Given the description of an element on the screen output the (x, y) to click on. 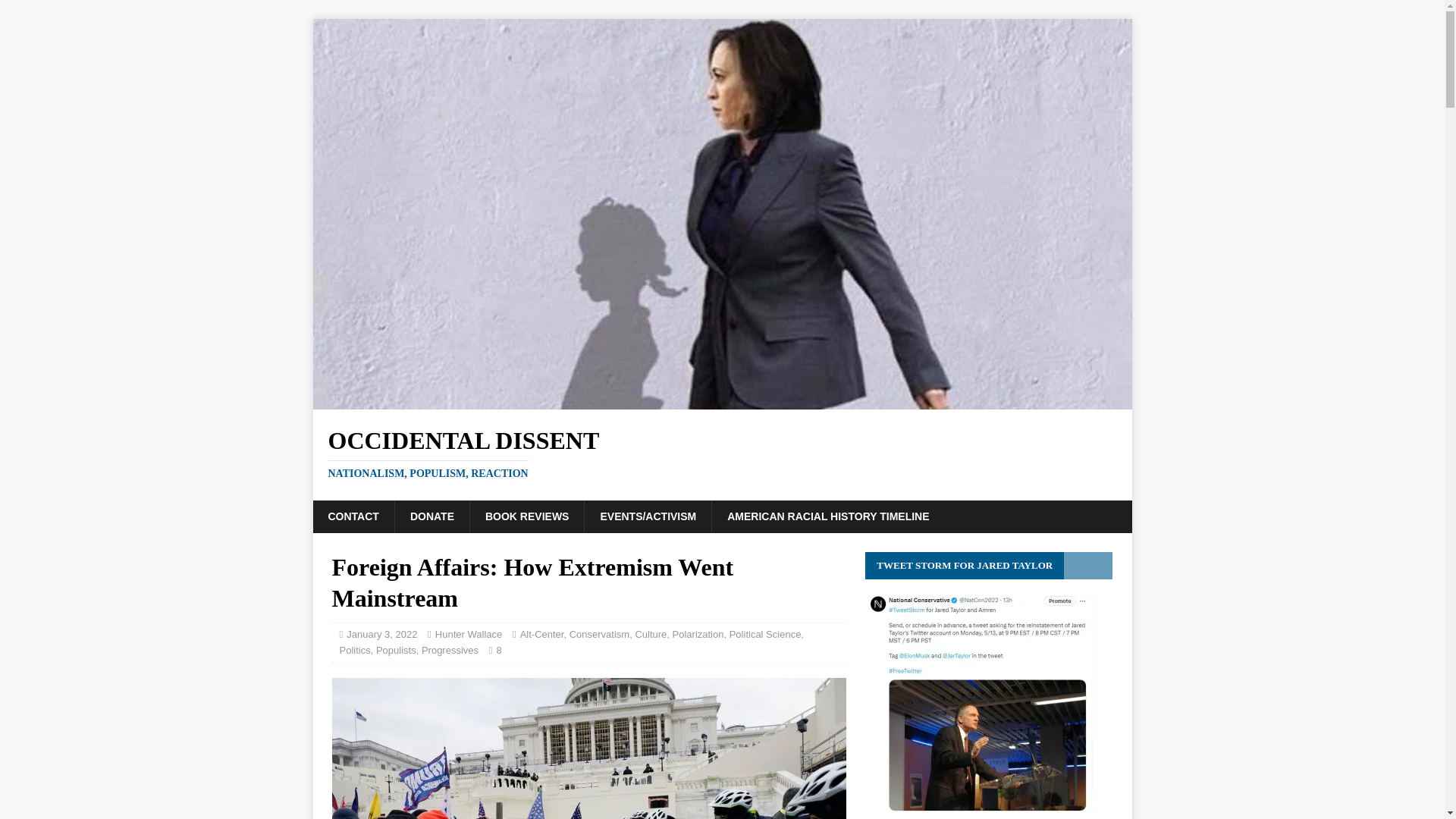
Conservatism (598, 633)
Progressives (450, 650)
im-289287 (588, 748)
BOOK REVIEWS (525, 516)
Culture (650, 633)
CONTACT (353, 516)
DONATE (431, 516)
Occidental Dissent (721, 453)
Hunter Wallace (468, 633)
Occidental Dissent (722, 399)
January 3, 2022 (381, 633)
Alt-Center (541, 633)
Political Science (721, 453)
Populists (765, 633)
